Given the description of an element on the screen output the (x, y) to click on. 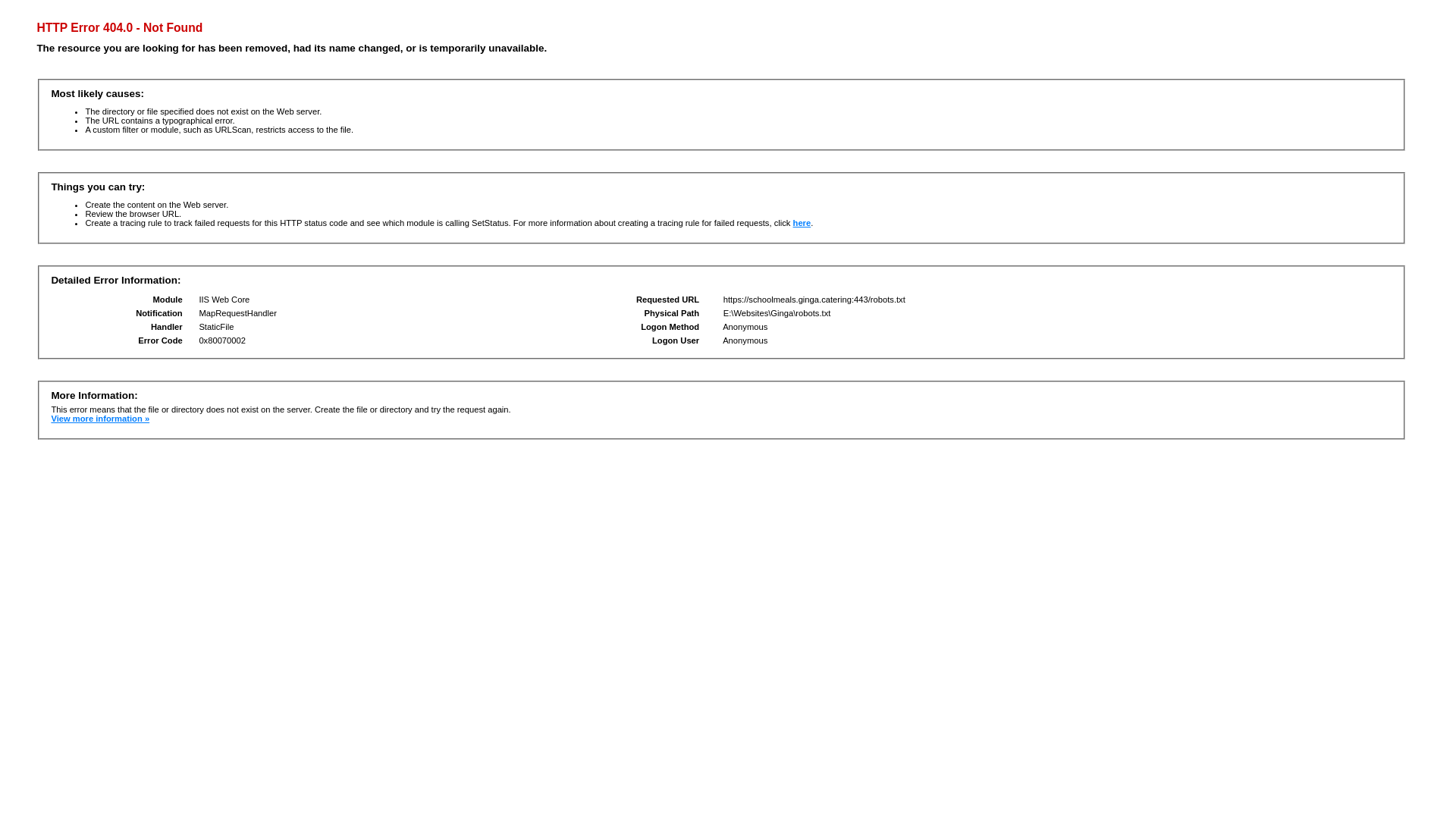
here Element type: text (802, 222)
